Given the description of an element on the screen output the (x, y) to click on. 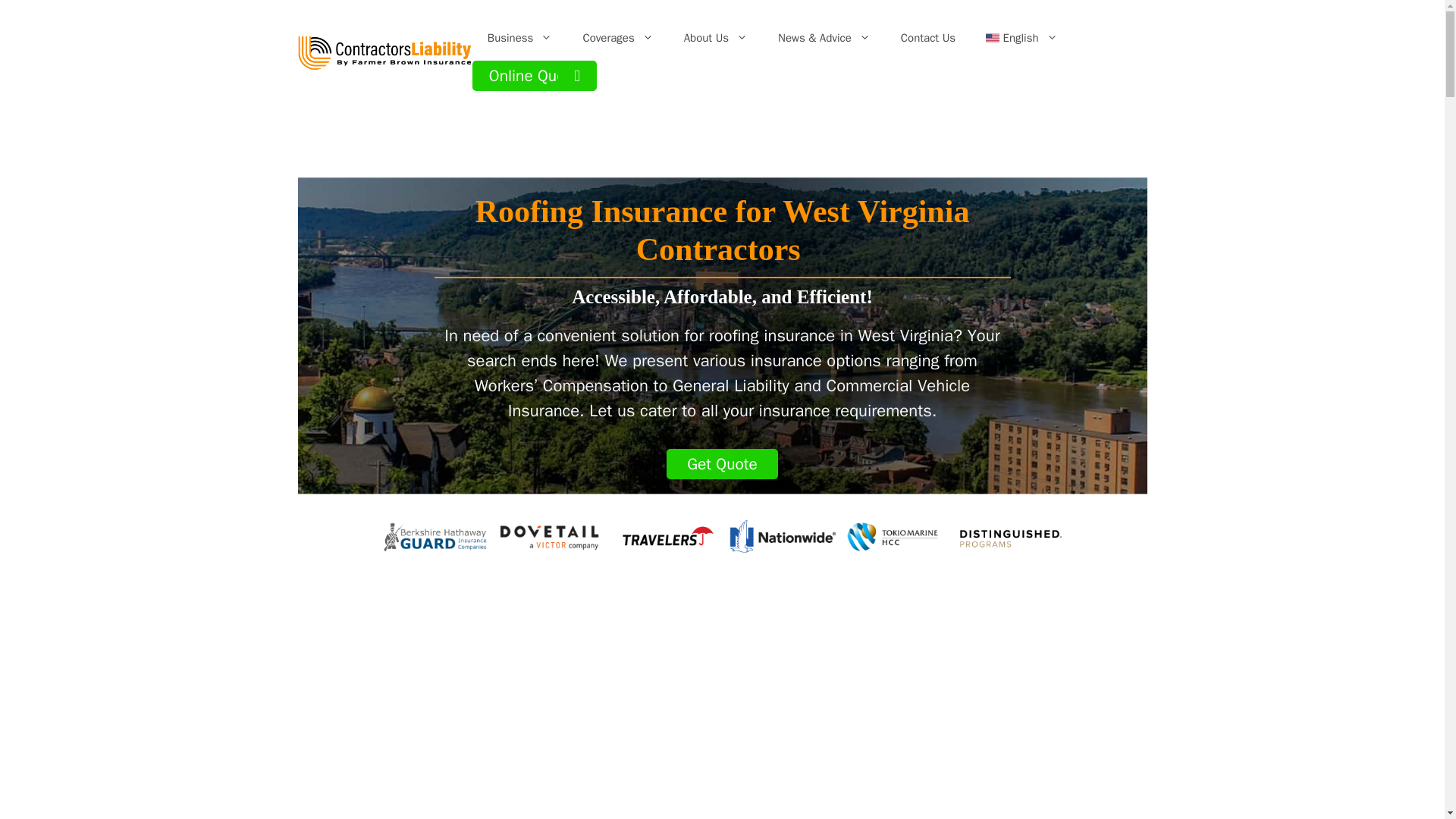
English (1022, 37)
Business (519, 37)
About Us (715, 37)
Coverages (617, 37)
